Given the description of an element on the screen output the (x, y) to click on. 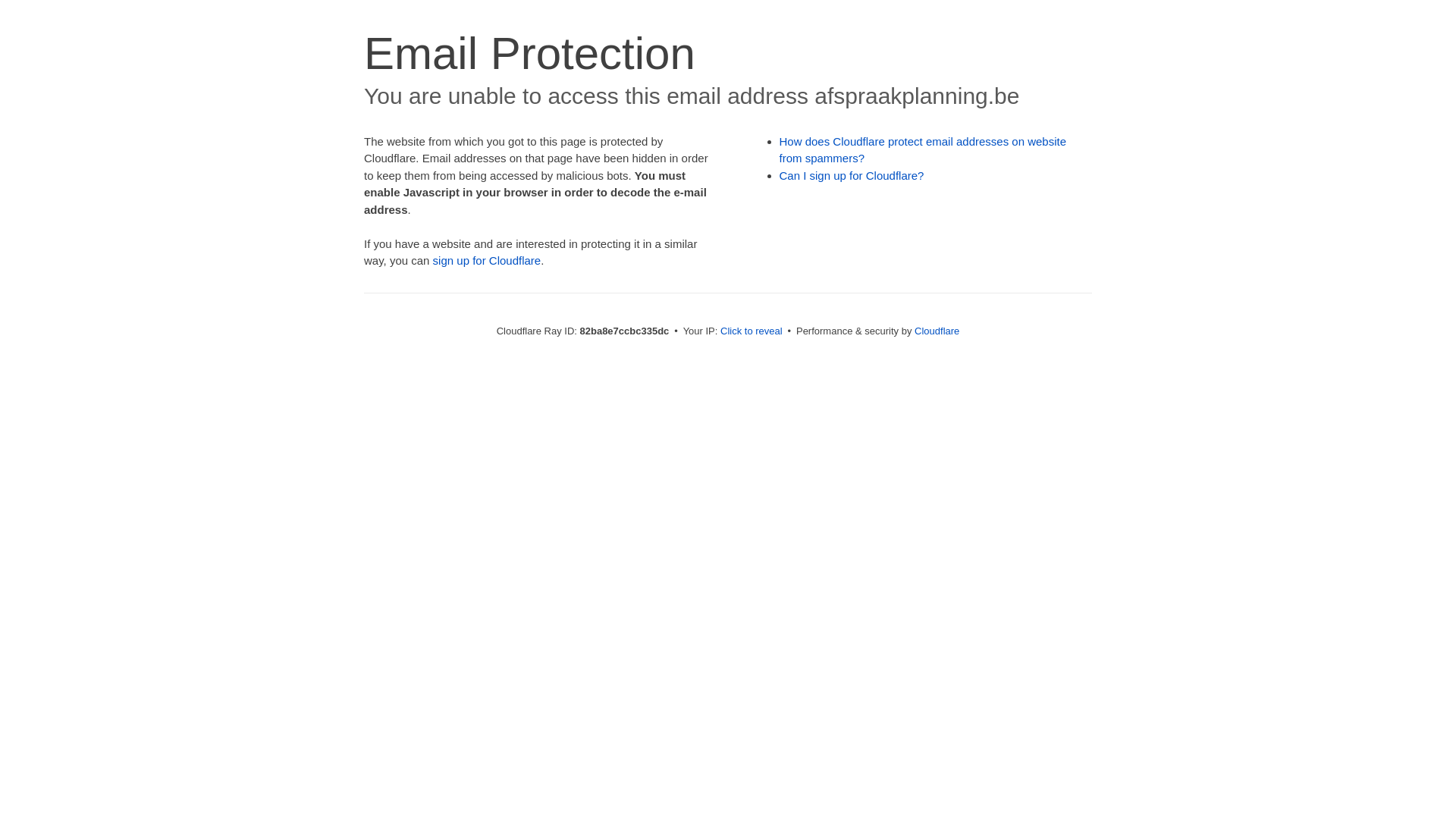
Cloudflare Element type: text (936, 330)
Can I sign up for Cloudflare? Element type: text (851, 175)
Click to reveal Element type: text (751, 330)
sign up for Cloudflare Element type: text (487, 260)
